Given the description of an element on the screen output the (x, y) to click on. 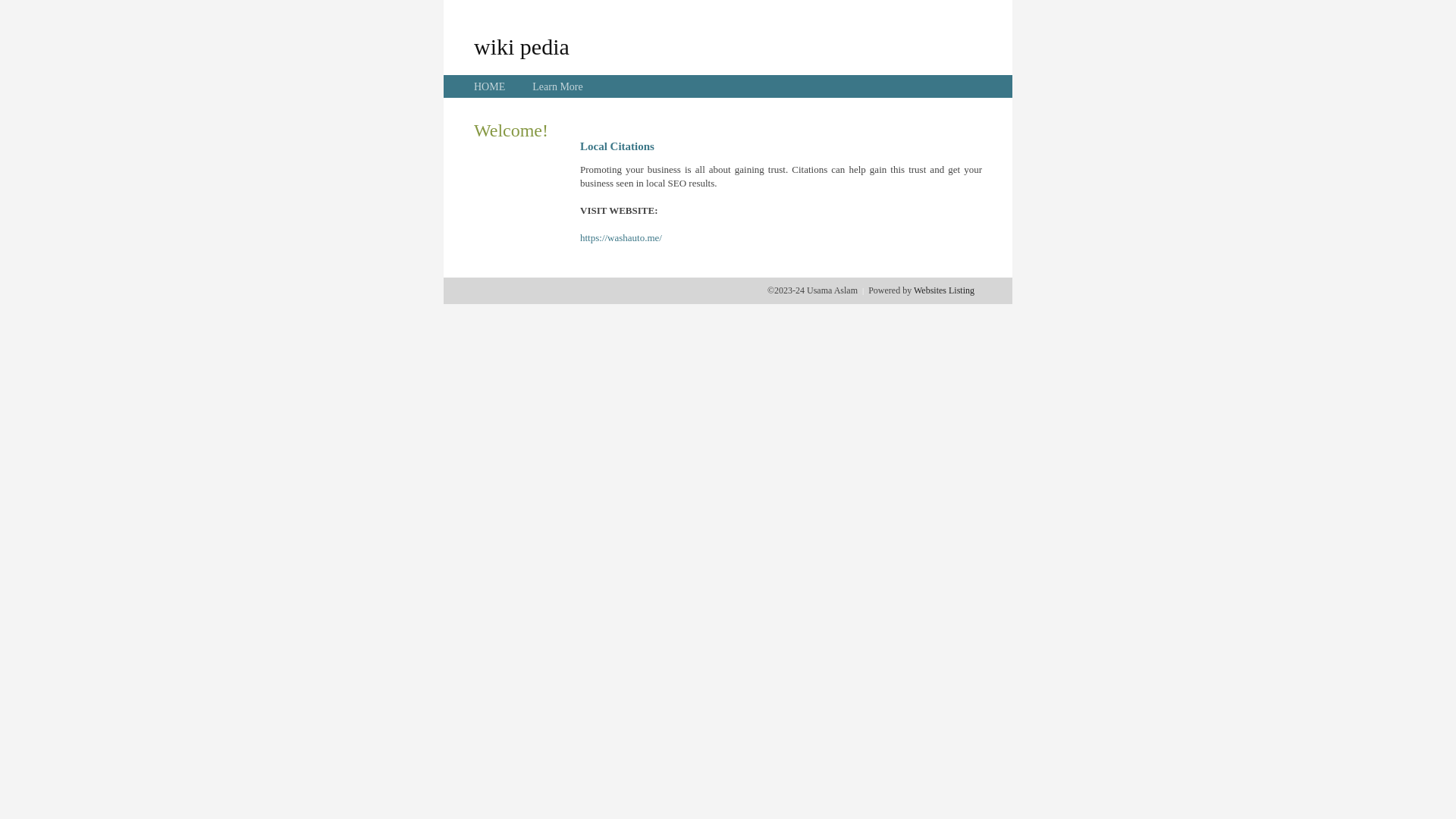
https://washauto.me/ Element type: text (621, 237)
Learn More Element type: text (557, 86)
HOME Element type: text (489, 86)
Websites Listing Element type: text (943, 290)
wiki pedia Element type: text (521, 46)
